Given the description of an element on the screen output the (x, y) to click on. 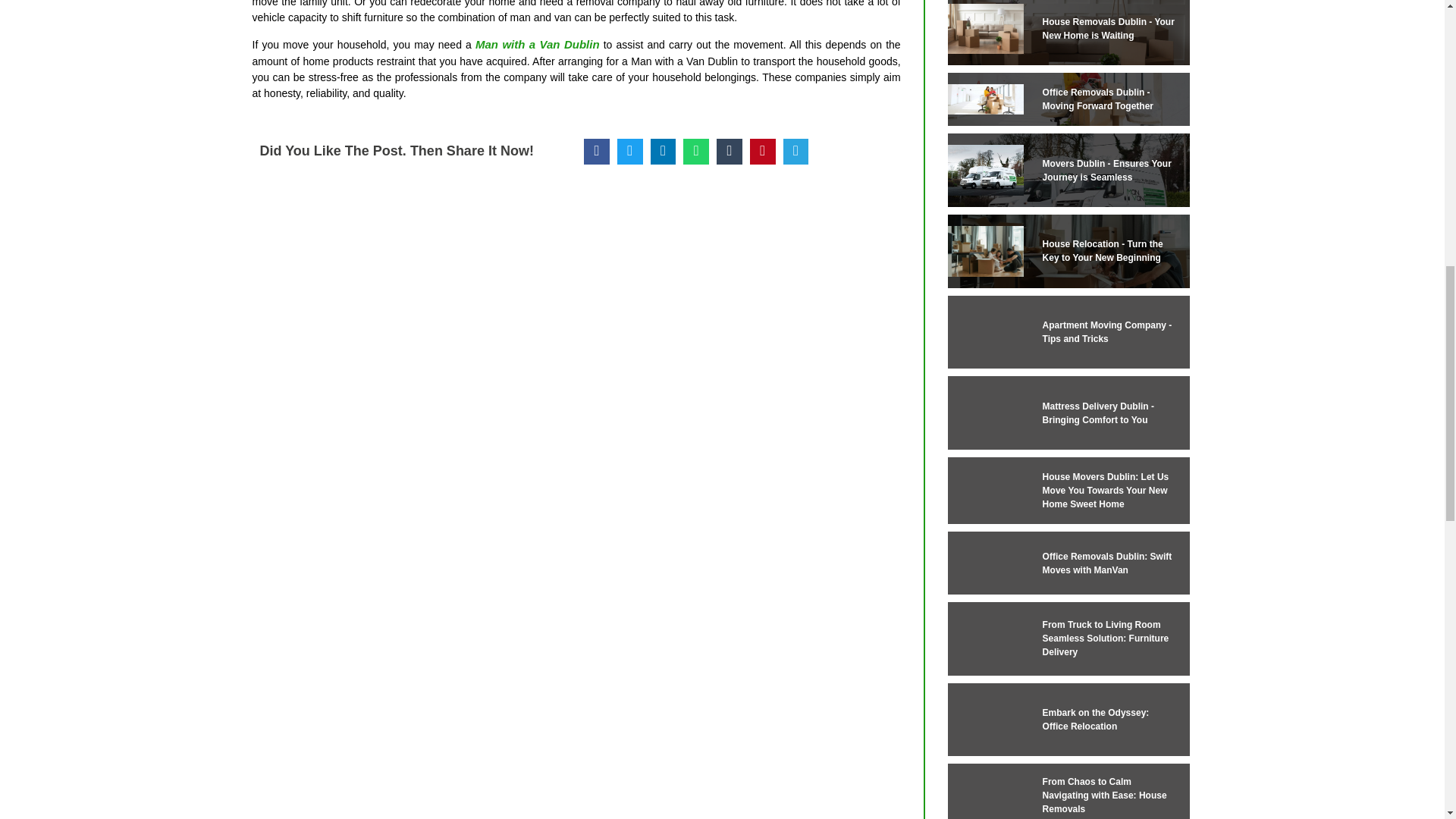
House Relocation - Turn the Key to Your New Beginning 5 (985, 251)
Office Removals Dublin: Swift Moves with ManVan 9 (985, 562)
House Removals Dublin - Your New Home is Waiting 2 (985, 29)
Mattress Delivery Dublin - Bringing Comfort to You 7 (985, 412)
Office Removals Dublin - Moving Forward Together 3 (985, 99)
Apartment Moving Company - Tips and Tricks 6 (985, 332)
Movers Dublin - Ensures Your Journey is Seamless 4 (985, 169)
From Chaos to Calm Navigating with Ease: House Removals 12 (985, 795)
Embark on the Odyssey: Office Relocation 11 (985, 719)
